Given the description of an element on the screen output the (x, y) to click on. 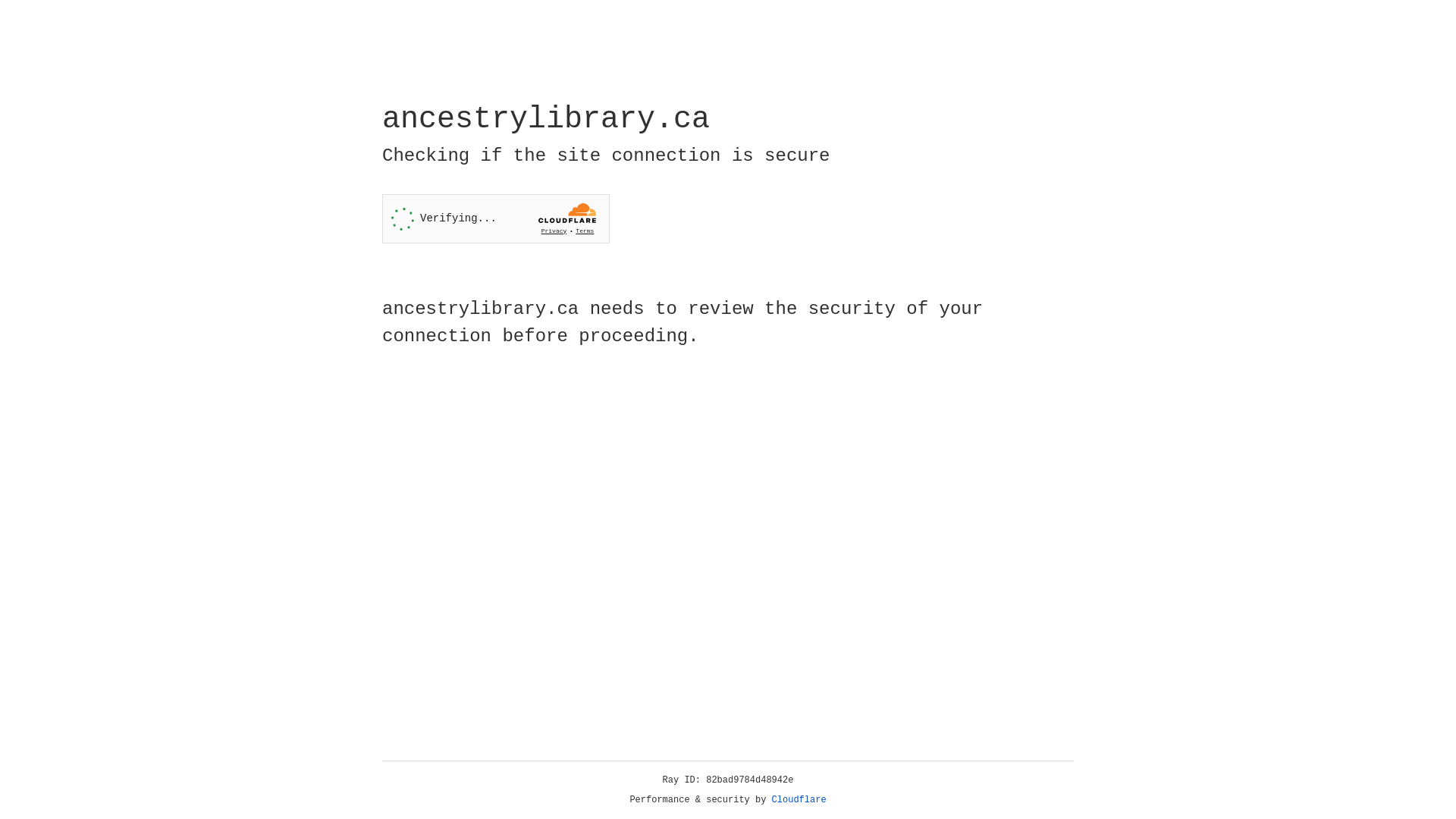
Widget containing a Cloudflare security challenge Element type: hover (495, 218)
Cloudflare Element type: text (798, 799)
